Given the description of an element on the screen output the (x, y) to click on. 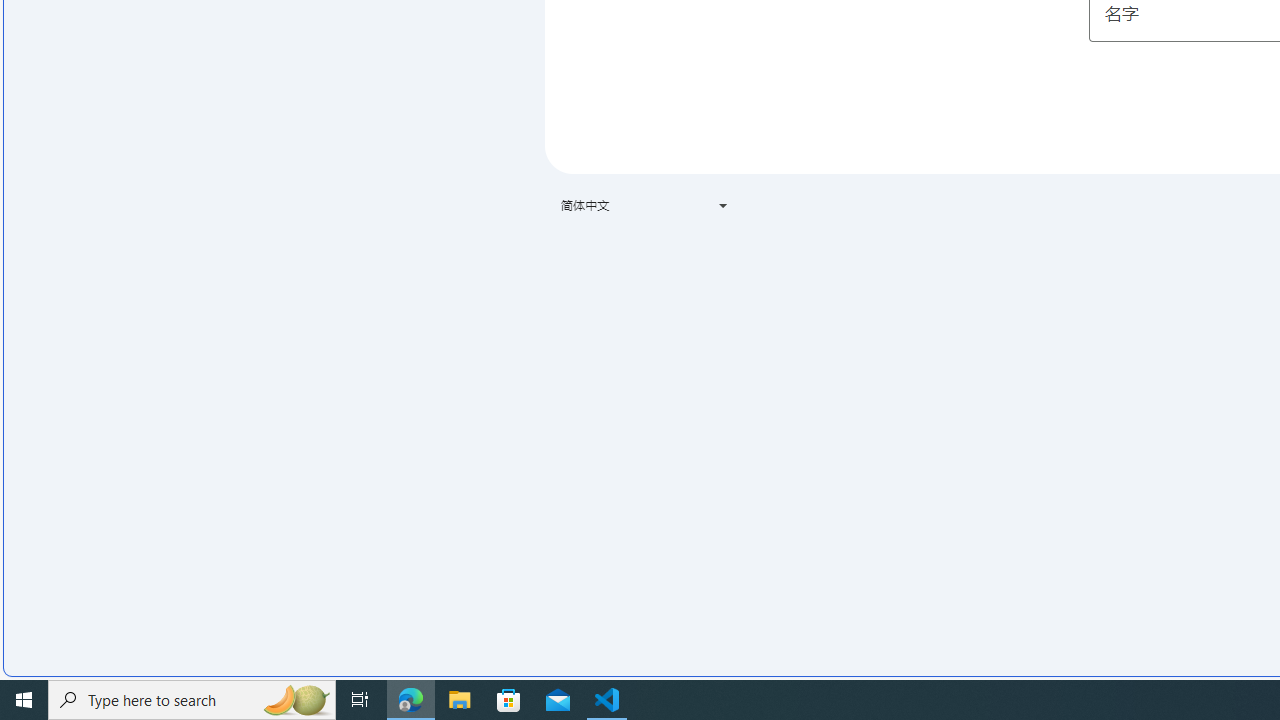
Class: VfPpkd-t08AT-Bz112c-Bd00G (723, 205)
